Given the description of an element on the screen output the (x, y) to click on. 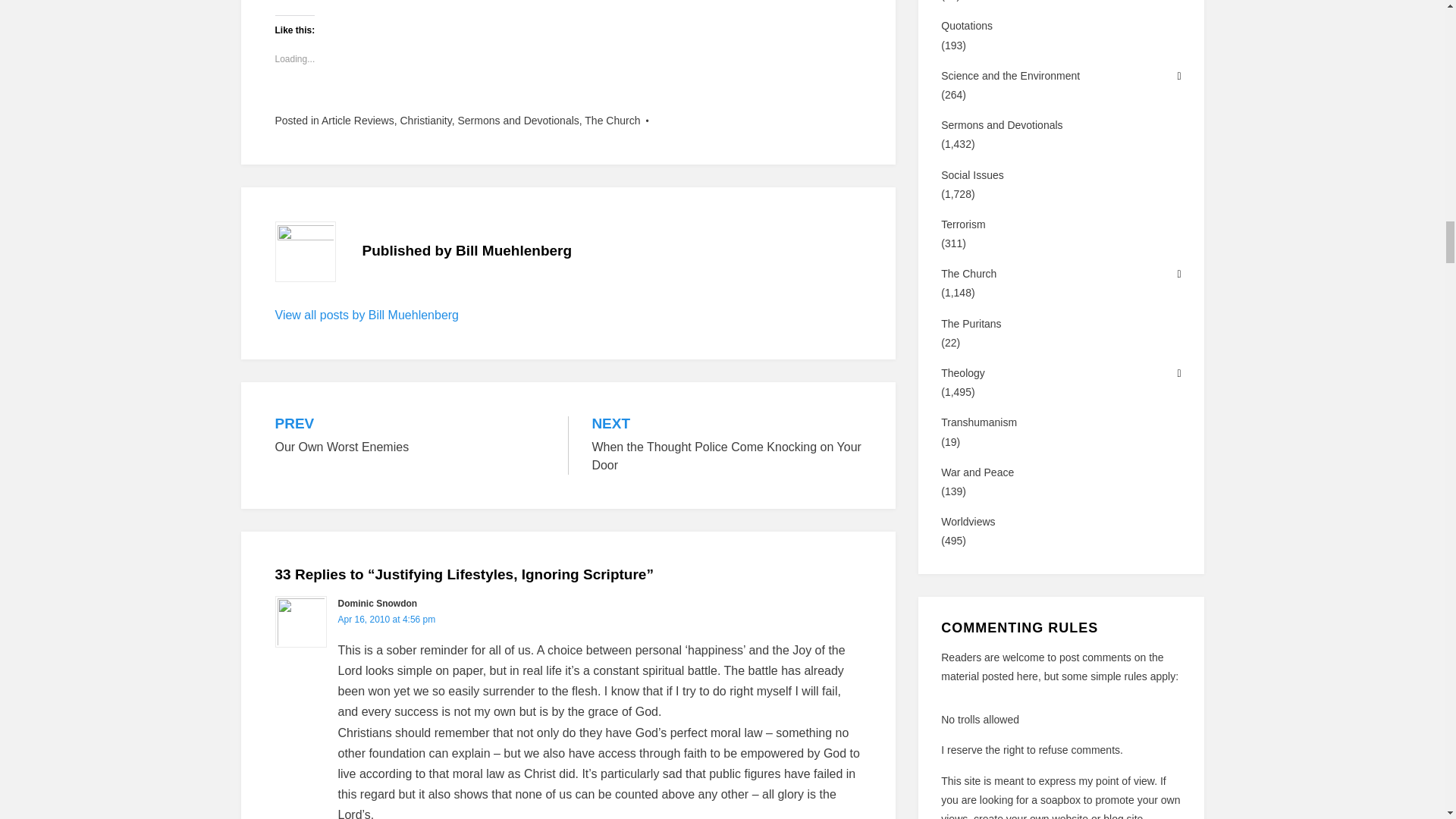
Christianity (424, 120)
Article Reviews (357, 120)
Sermons and Devotionals (517, 120)
